Given the description of an element on the screen output the (x, y) to click on. 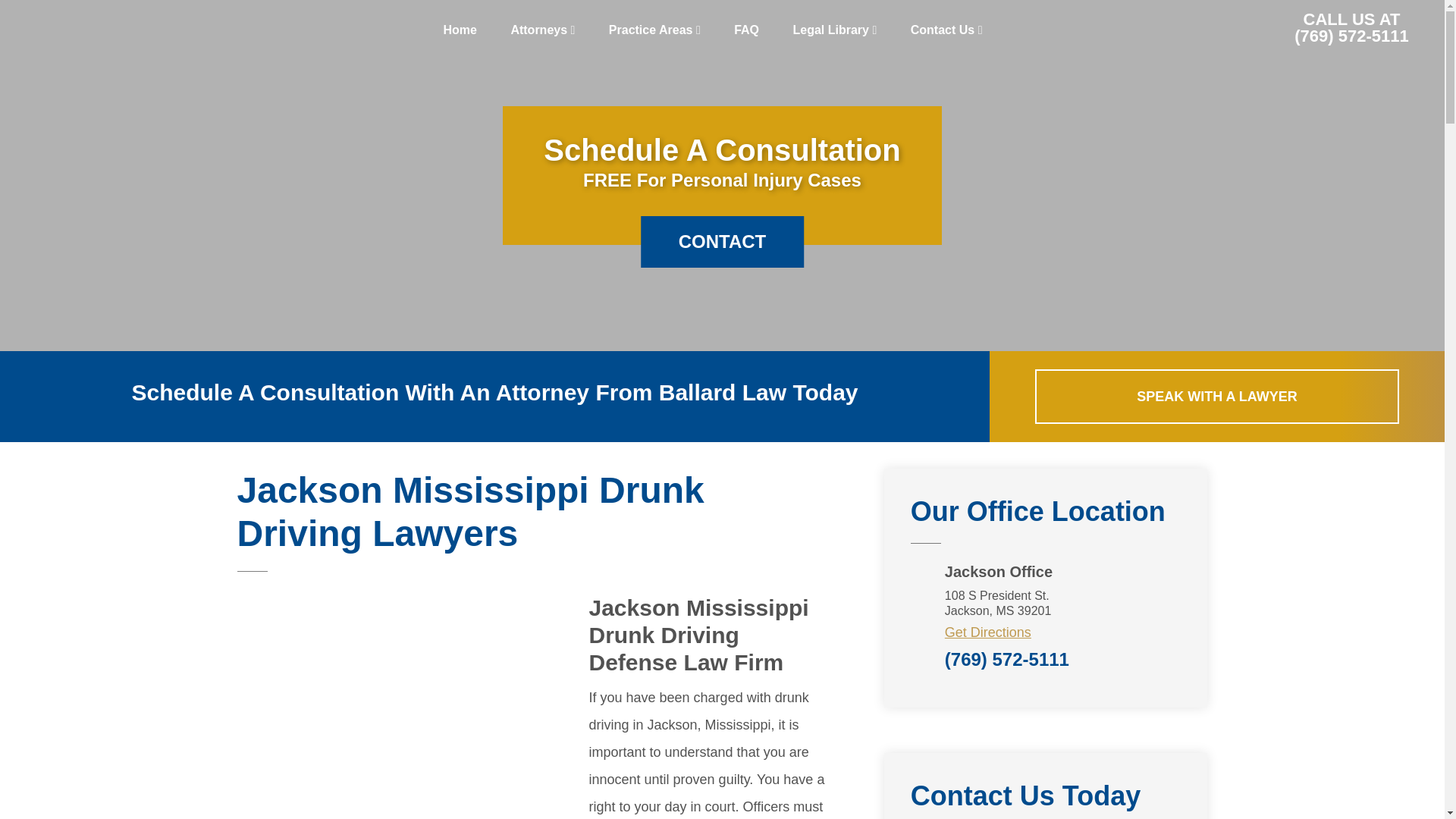
Legal Library (834, 30)
Contact Us (946, 30)
Ballard Law, PLLC (113, 30)
Home (460, 30)
Practice Areas (655, 30)
FAQ (746, 30)
Attorneys (542, 30)
